Given the description of an element on the screen output the (x, y) to click on. 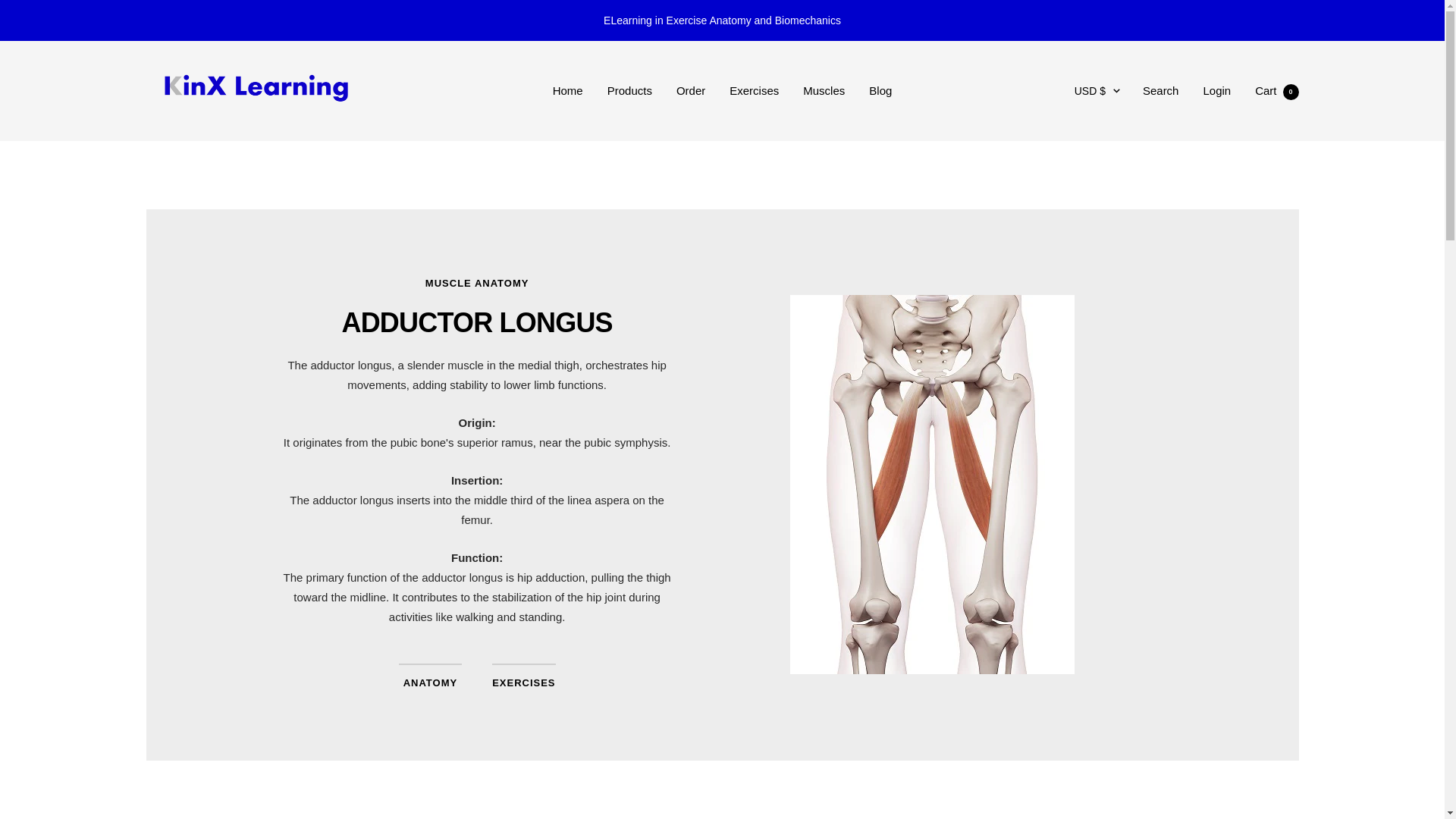
ANG (1080, 243)
Exercises (753, 90)
Blog (880, 90)
BGN (1080, 418)
AMD (1080, 218)
CHF (1080, 642)
CAD (1080, 592)
BDT (1080, 393)
Muscles (823, 90)
AUD (1080, 268)
